Given the description of an element on the screen output the (x, y) to click on. 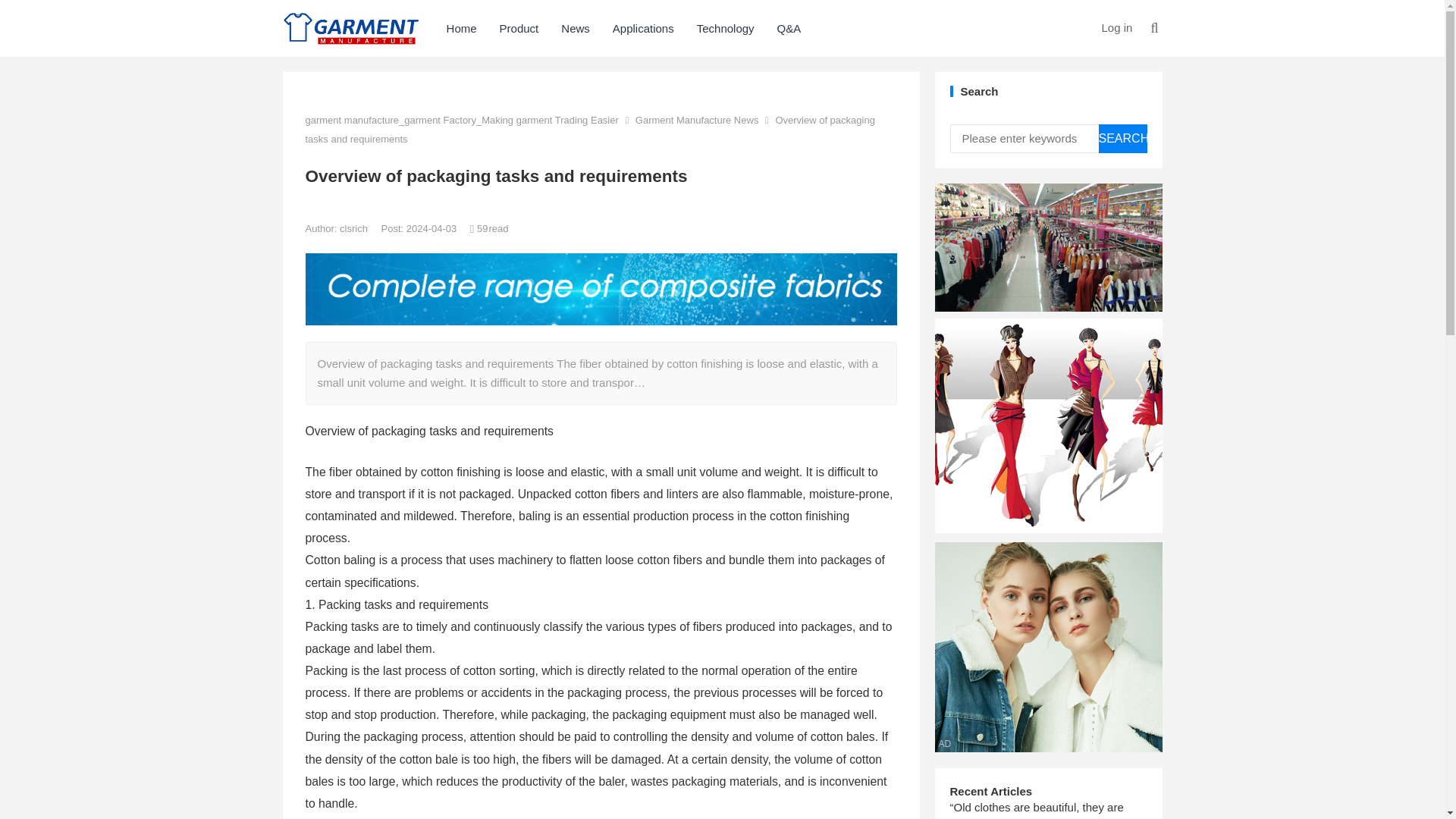
Garment Manufacture News (696, 119)
News (575, 28)
SEARCH (1122, 138)
Log in (1116, 27)
Technology (725, 28)
Log in (1116, 27)
Home (461, 28)
Applications (643, 28)
Product (518, 28)
clsrich (354, 228)
